Given the description of an element on the screen output the (x, y) to click on. 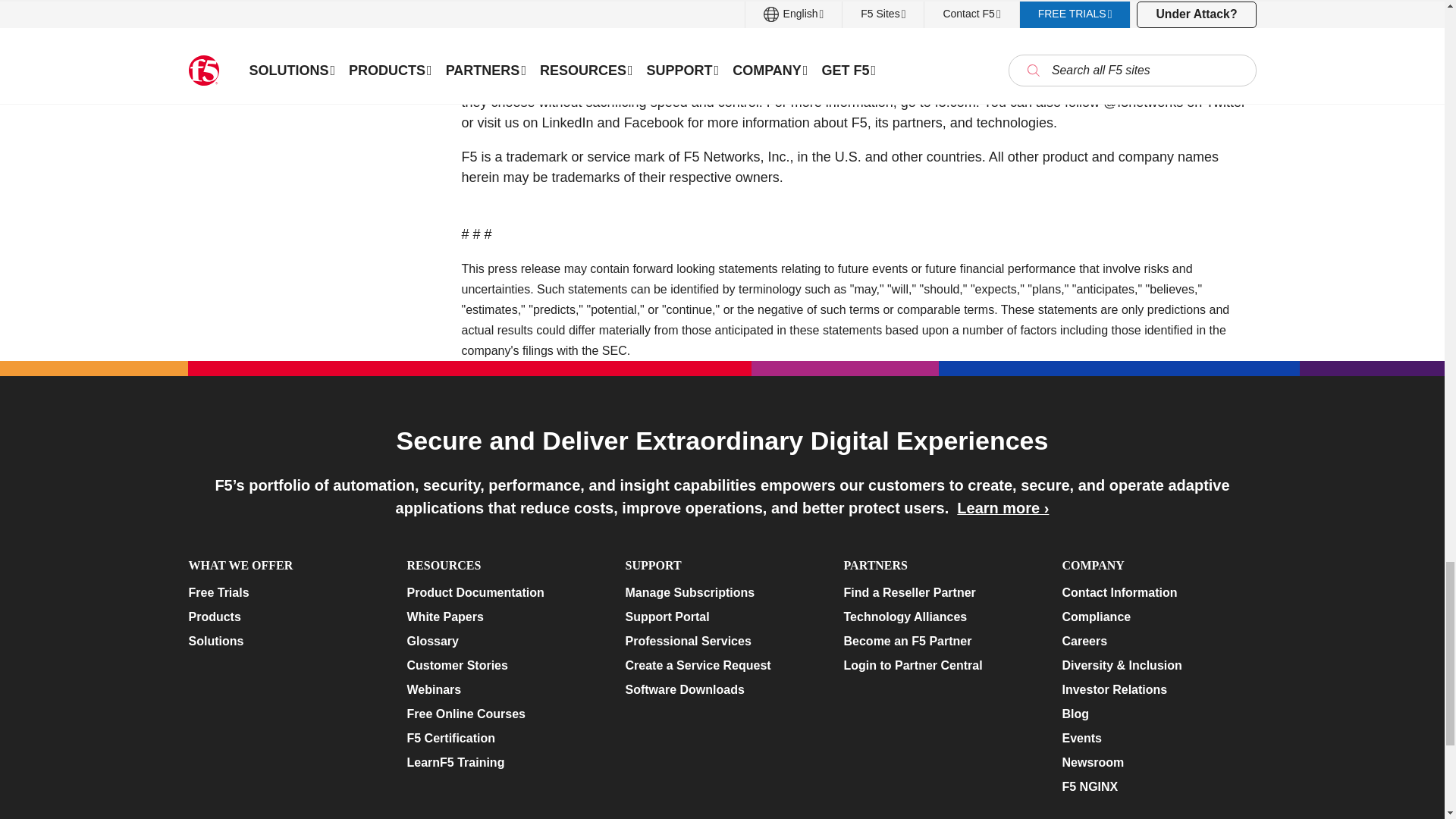
Solutions (284, 641)
Products (284, 617)
Product Documentation (502, 592)
White Papers (502, 617)
Free Trials (284, 592)
